Given the description of an element on the screen output the (x, y) to click on. 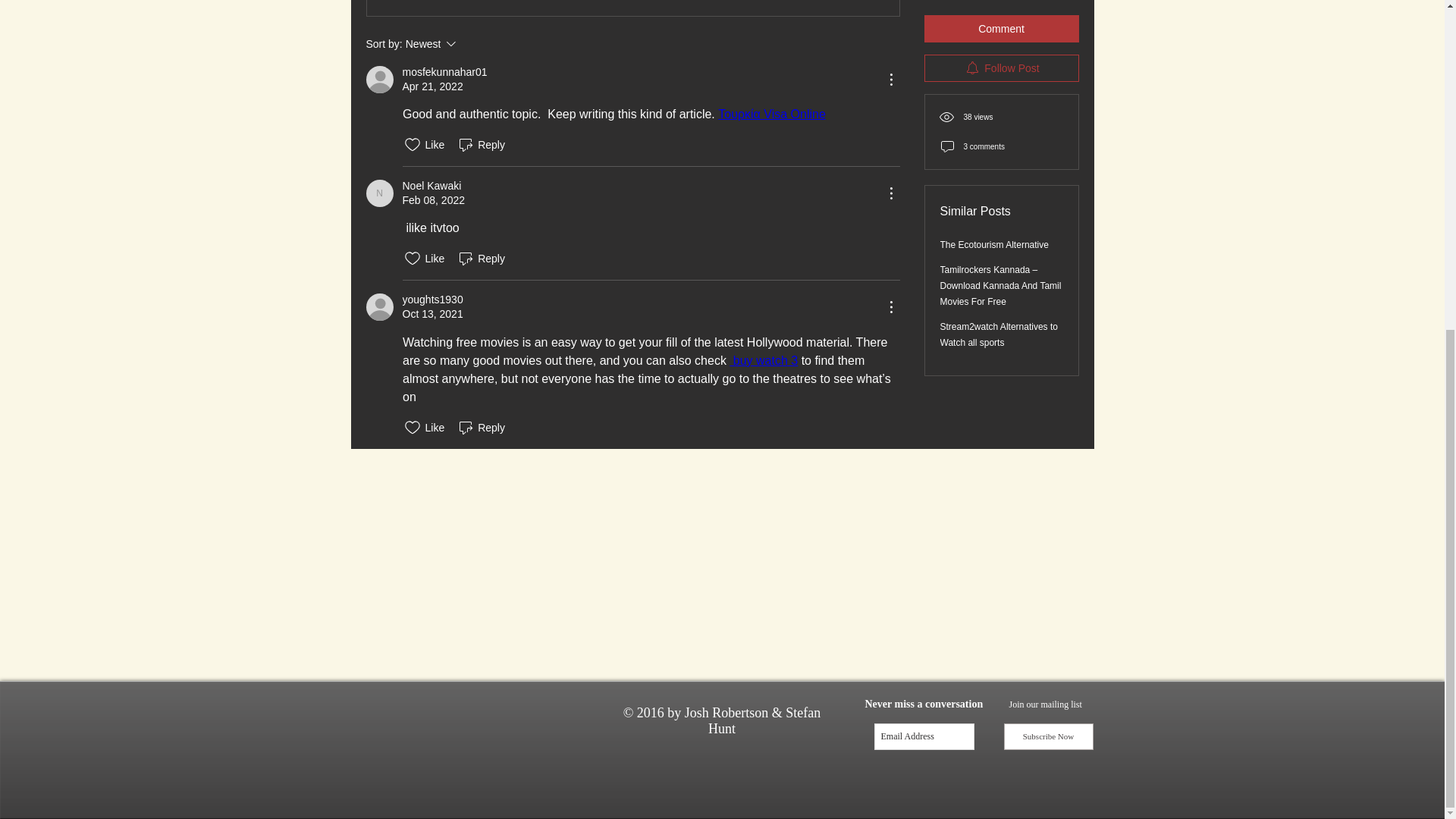
Noel Kawaki (471, 44)
Reply (379, 193)
 buy watch 3 (481, 144)
Noel Kawaki (763, 359)
Reply (431, 186)
youghts1930 (481, 258)
mosfekunnahar01 (432, 299)
N (443, 72)
Write a comment... (379, 193)
